Given the description of an element on the screen output the (x, y) to click on. 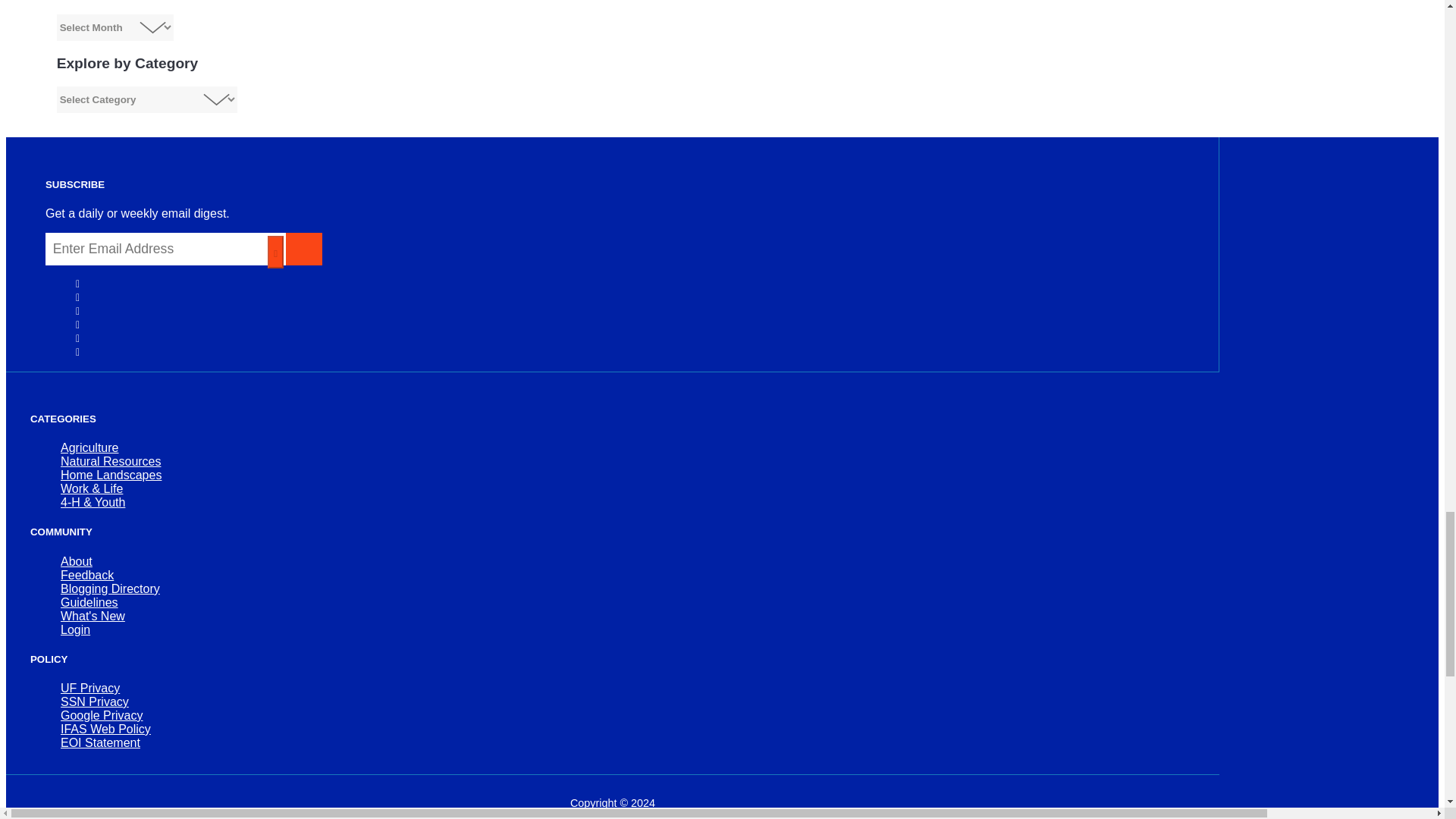
Enter Email Address (165, 248)
